Given the description of an element on the screen output the (x, y) to click on. 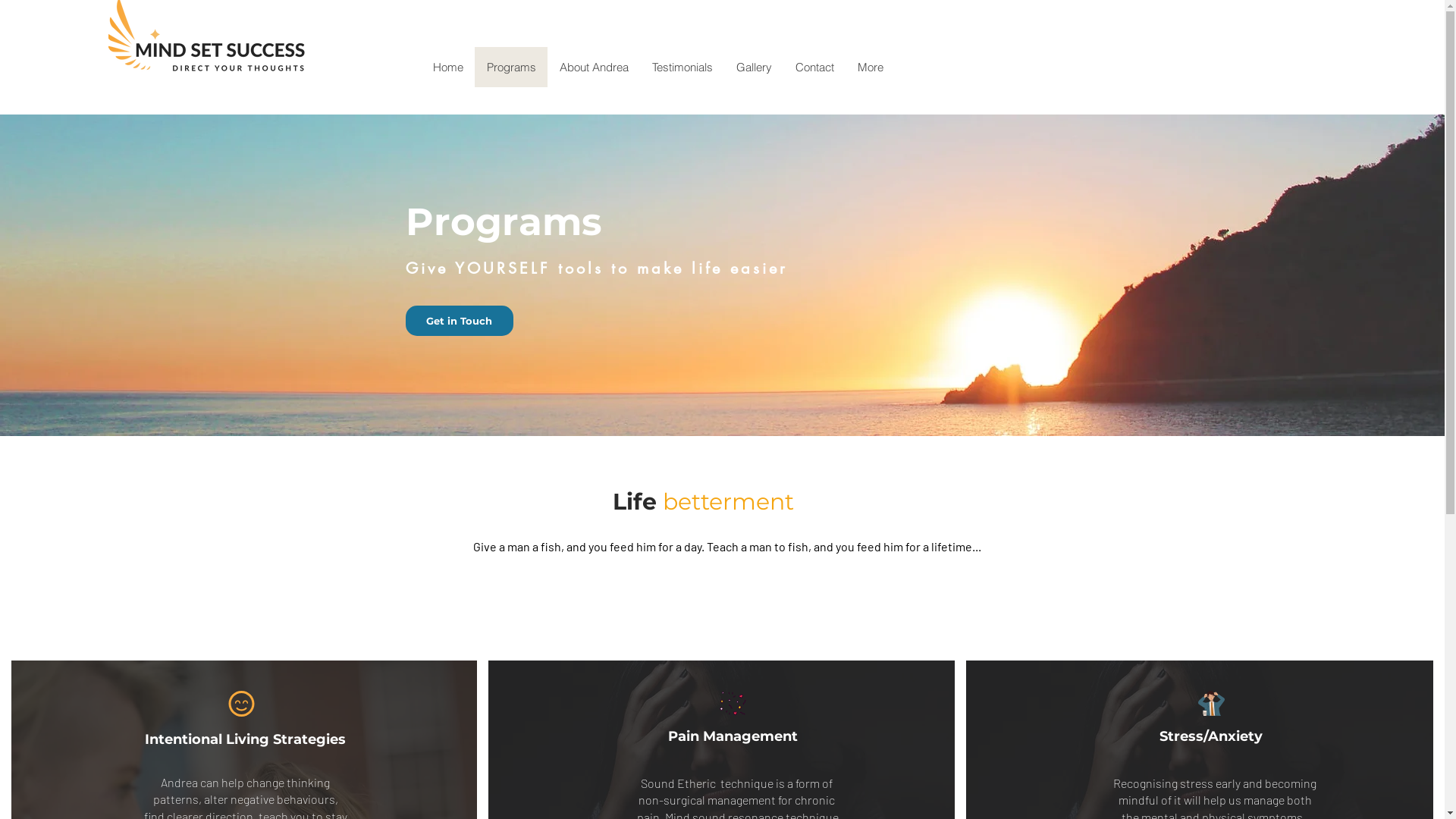
Gallery Element type: text (753, 67)
Home Element type: text (447, 67)
Testimonials Element type: text (682, 67)
Contact Element type: text (814, 67)
Programs Element type: text (510, 67)
About Andrea Element type: text (593, 67)
Get in Touch Element type: text (458, 320)
